Given the description of an element on the screen output the (x, y) to click on. 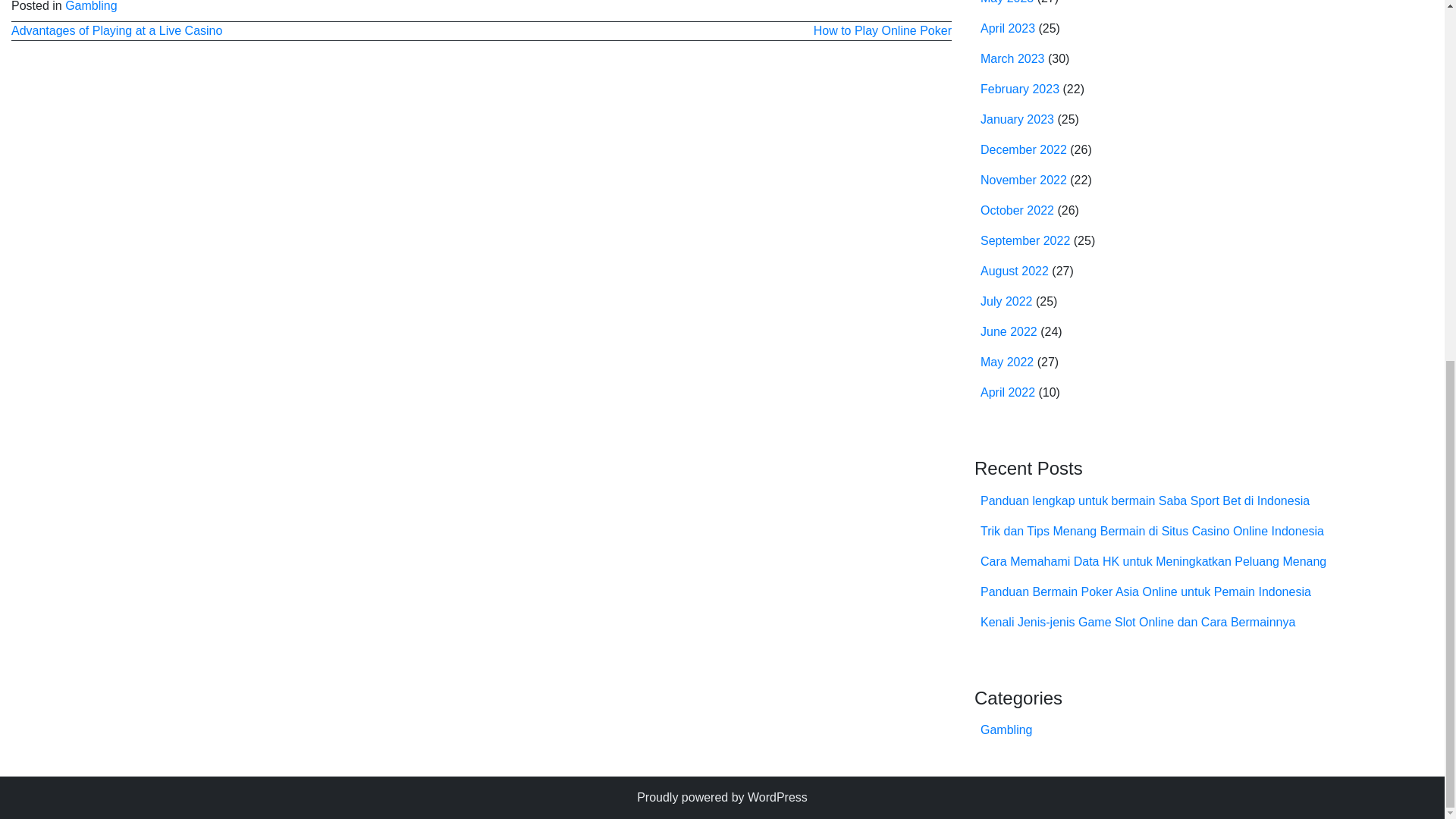
October 2022 (1016, 210)
December 2022 (1023, 149)
Advantages of Playing at a Live Casino (116, 30)
March 2023 (1012, 58)
Panduan lengkap untuk bermain Saba Sport Bet di Indonesia (1143, 500)
Cara Memahami Data HK untuk Meningkatkan Peluang Menang (1152, 561)
May 2023 (1006, 2)
June 2022 (1007, 331)
November 2022 (1023, 179)
Gambling (90, 6)
April 2022 (1007, 391)
July 2022 (1005, 300)
April 2023 (1007, 28)
How to Play Online Poker (882, 30)
